Given the description of an element on the screen output the (x, y) to click on. 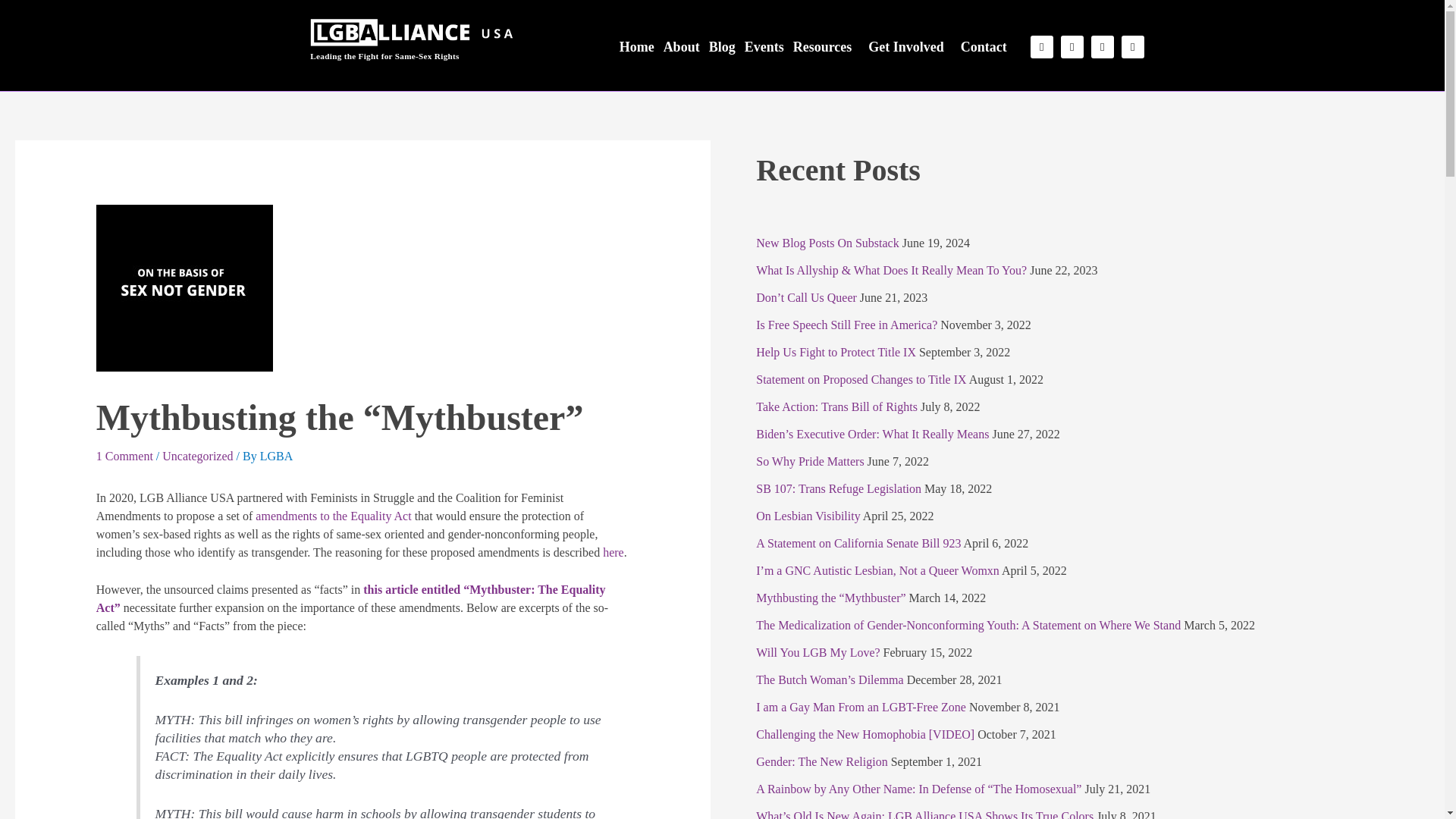
Facebook (1101, 47)
Resources (826, 46)
Events (764, 46)
here (613, 552)
Get Involved (909, 46)
Youtube (1132, 47)
Uncategorized (196, 455)
About (681, 46)
LGBA (277, 455)
amendments to the Equality Act (333, 515)
